Given the description of an element on the screen output the (x, y) to click on. 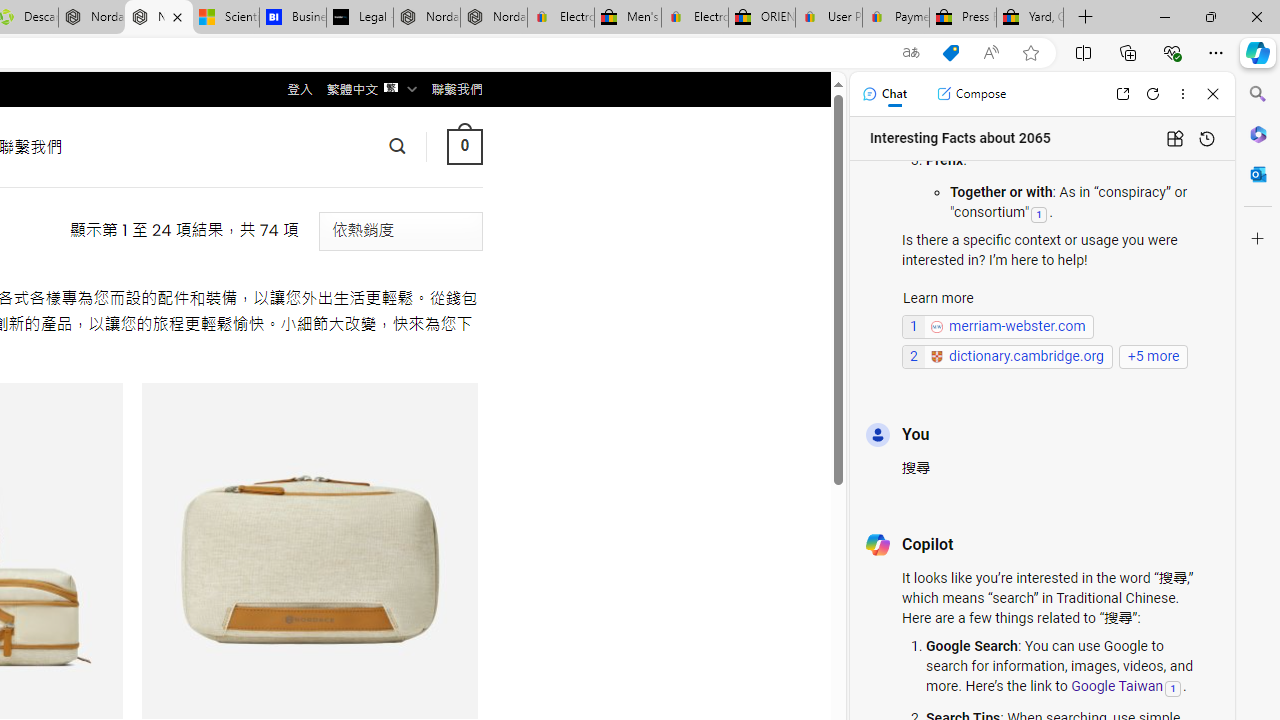
Nordace - Summer Adventures 2024 (91, 17)
Yard, Garden & Outdoor Living (1030, 17)
Show translate options (910, 53)
Compose (971, 93)
